Given the description of an element on the screen output the (x, y) to click on. 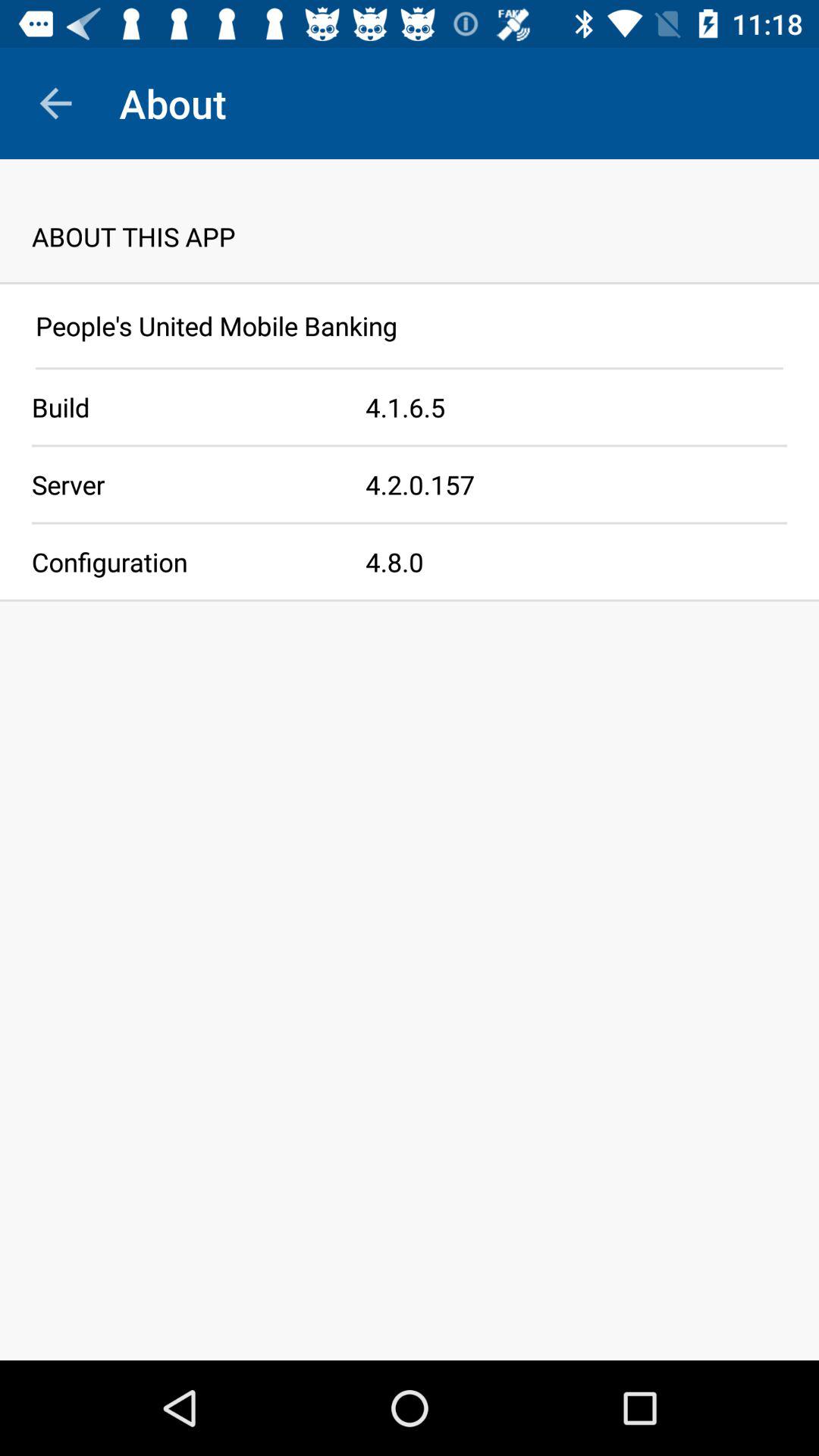
turn on the item below people s united app (409, 368)
